Given the description of an element on the screen output the (x, y) to click on. 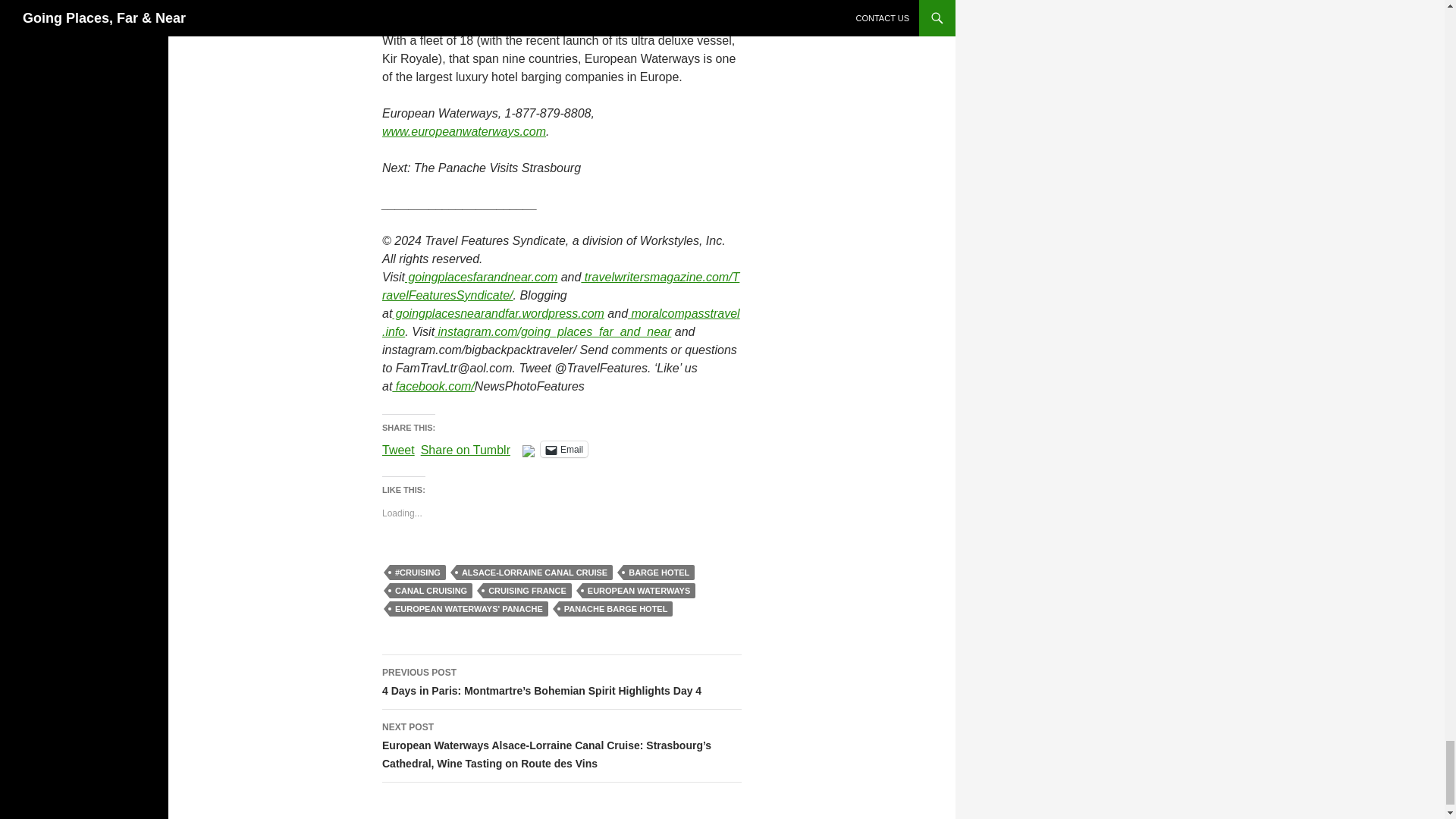
 goingplacesnearandfar.wordpress.com (497, 313)
 goingplacesfarandnear.com (480, 277)
www.europeanwaterways.com (463, 131)
Share on Tumblr (465, 448)
Click to email a link to a friend (564, 449)
Share on Tumblr (465, 448)
Tweet (397, 448)
 moralcompasstravel.info (560, 322)
